Given the description of an element on the screen output the (x, y) to click on. 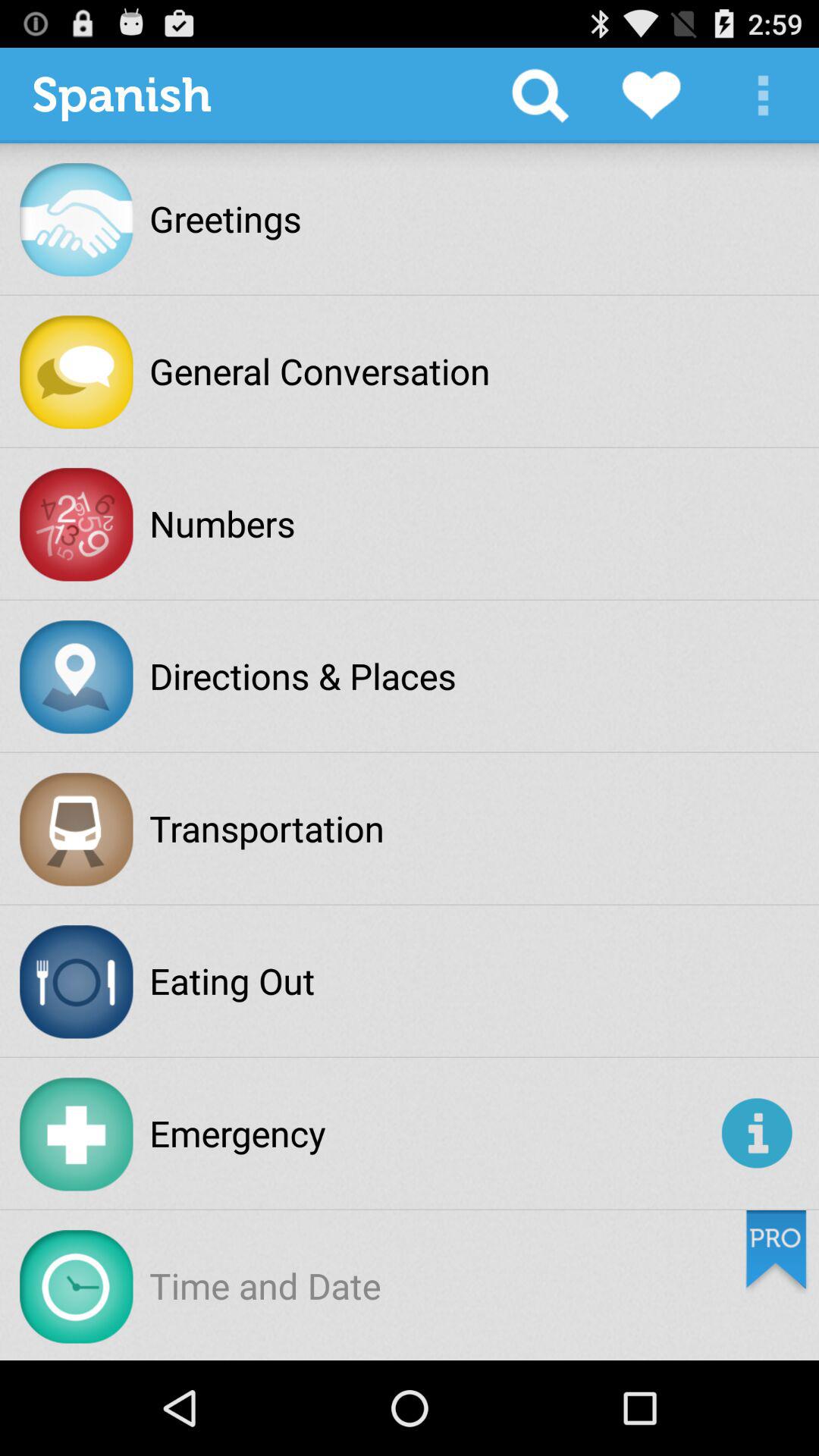
open the app to the right of the spanish item (540, 95)
